Given the description of an element on the screen output the (x, y) to click on. 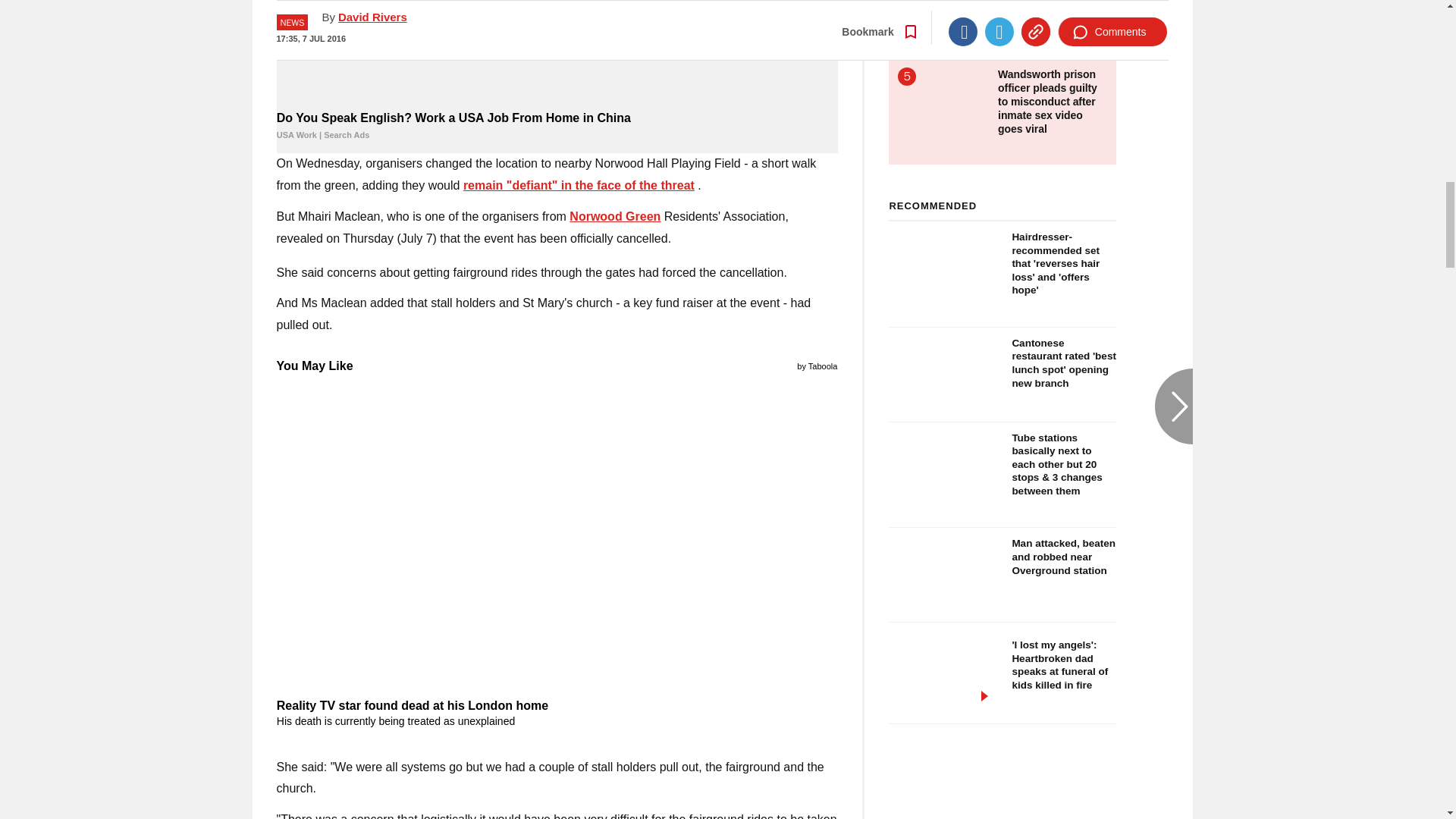
Do You Speak English? Work a USA Job From Home in China (557, 126)
Do You Speak English? Work a USA Job From Home in China (557, 53)
